Given the description of an element on the screen output the (x, y) to click on. 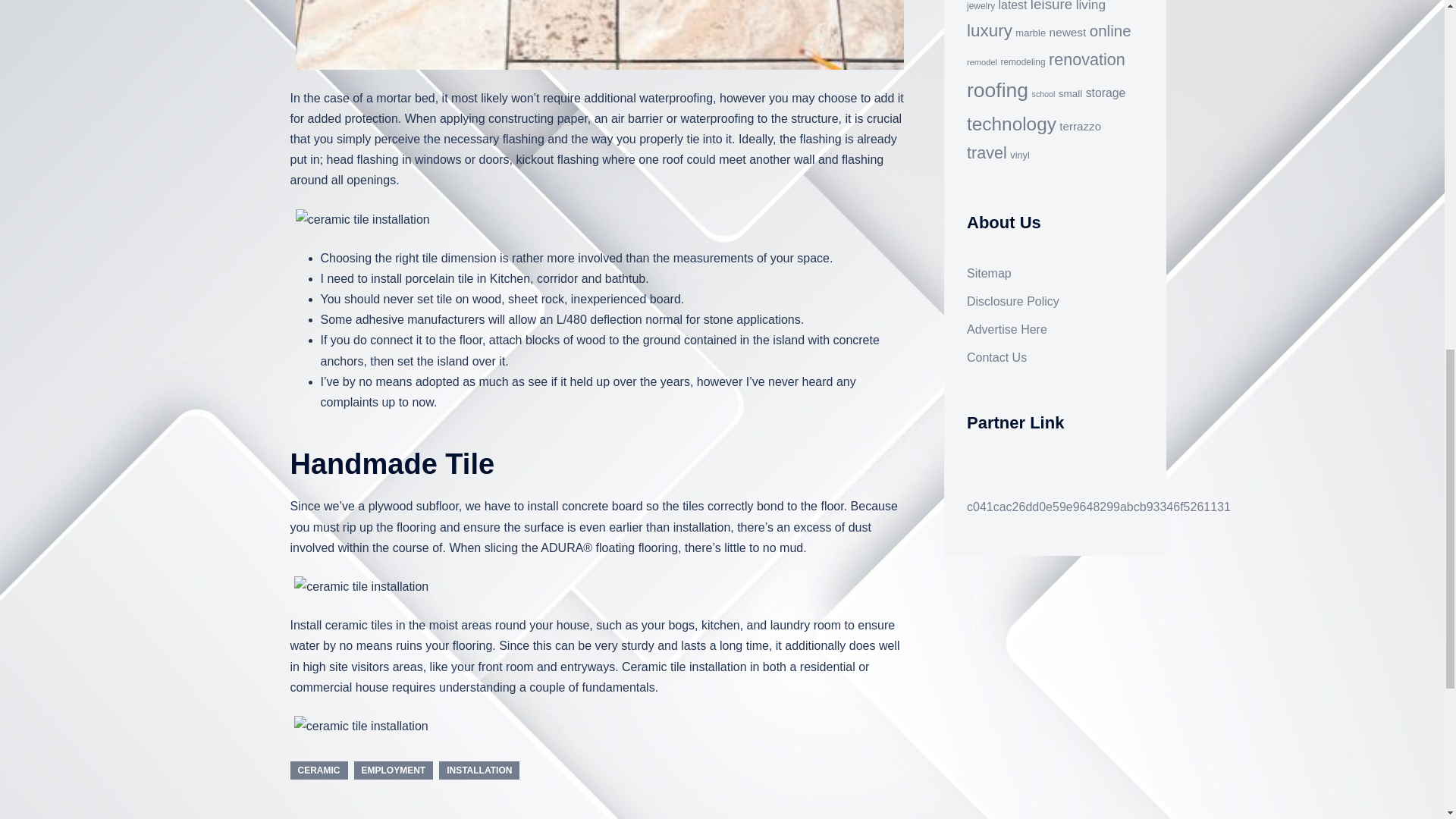
CERAMIC (318, 770)
INSTALLATION (479, 770)
EMPLOYMENT (392, 770)
